Given the description of an element on the screen output the (x, y) to click on. 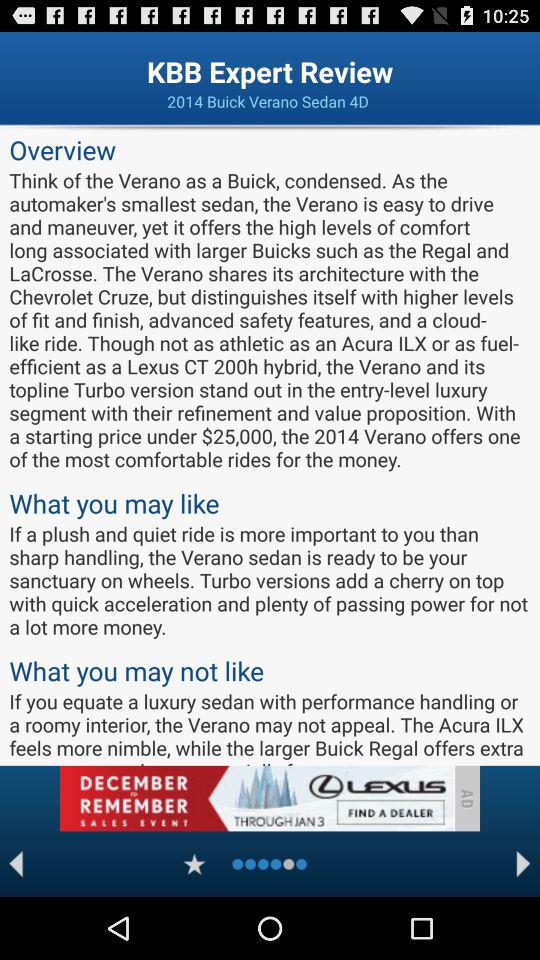
go to previous (16, 864)
